Given the description of an element on the screen output the (x, y) to click on. 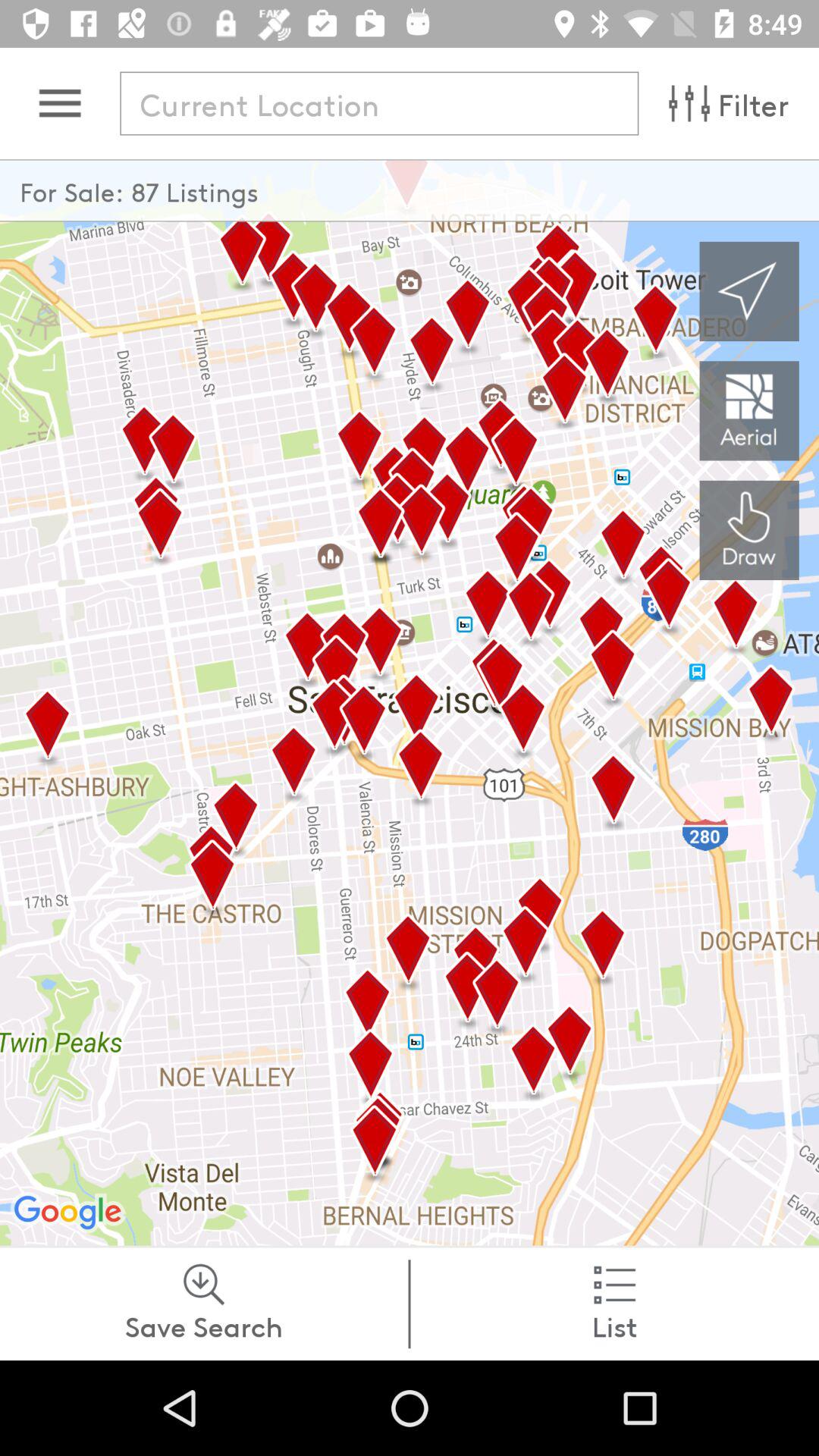
enter location (379, 103)
